Given the description of an element on the screen output the (x, y) to click on. 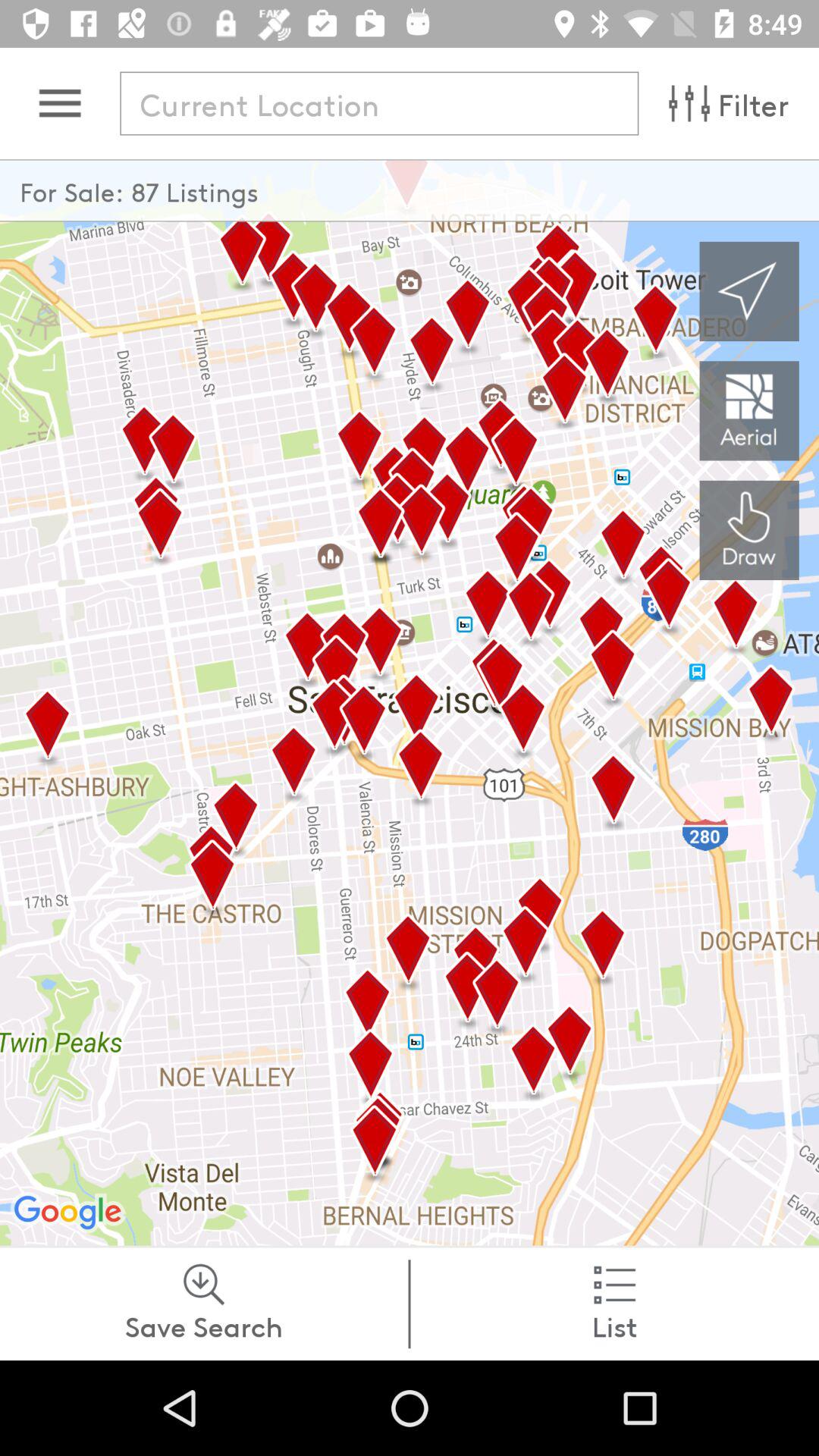
enter location (379, 103)
